Given the description of an element on the screen output the (x, y) to click on. 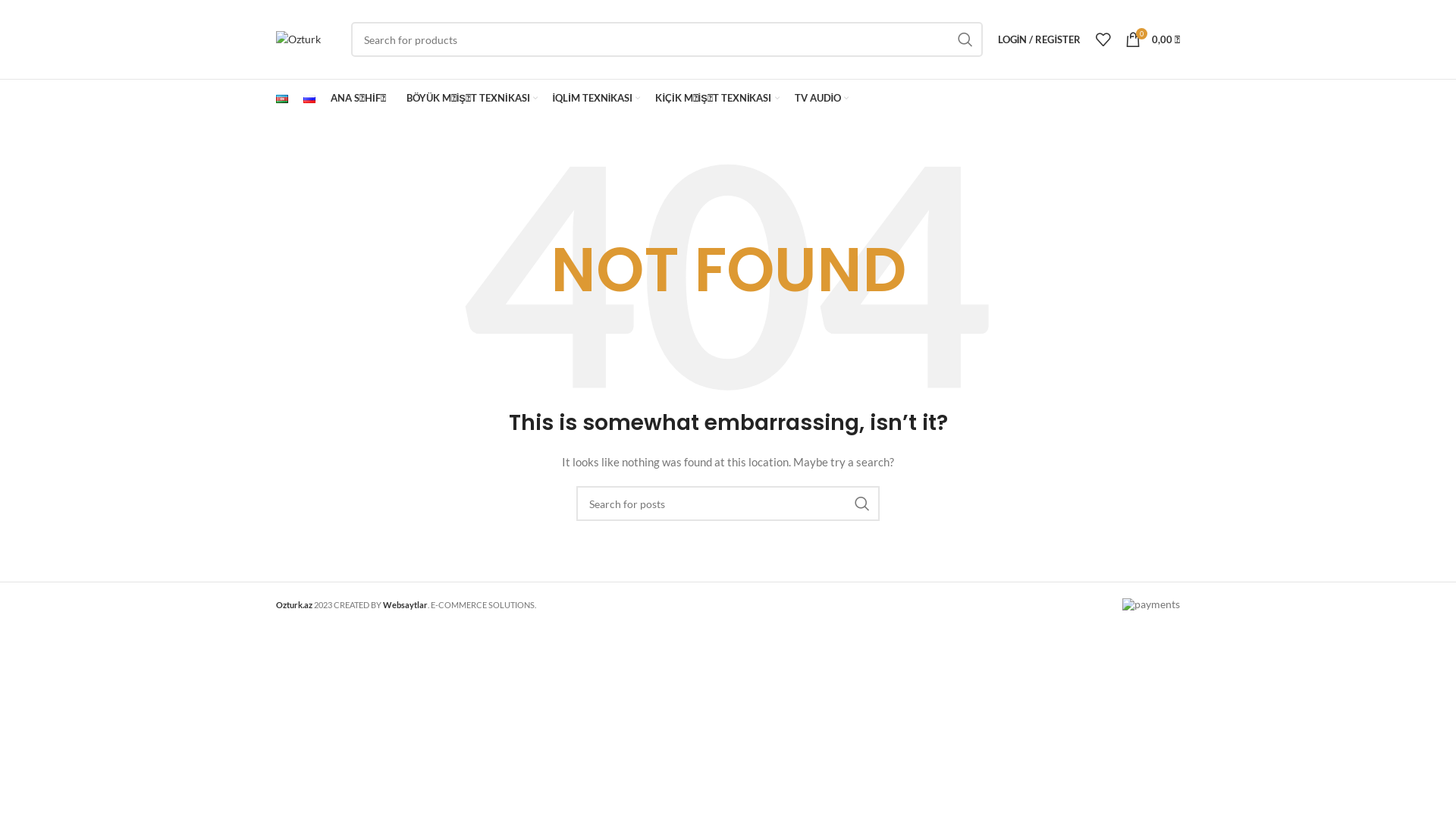
TV AUDIO Element type: text (821, 98)
Search for posts Element type: hover (727, 503)
LOGIN / REGISTER Element type: text (1039, 39)
SEARCH Element type: text (964, 38)
Websaytlar Element type: text (404, 604)
SEARCH Element type: text (861, 503)
My Wishlist Element type: hover (1102, 39)
Log in Element type: text (955, 280)
Search for products Element type: hover (666, 38)
Ozturk.az Element type: text (294, 604)
